Given the description of an element on the screen output the (x, y) to click on. 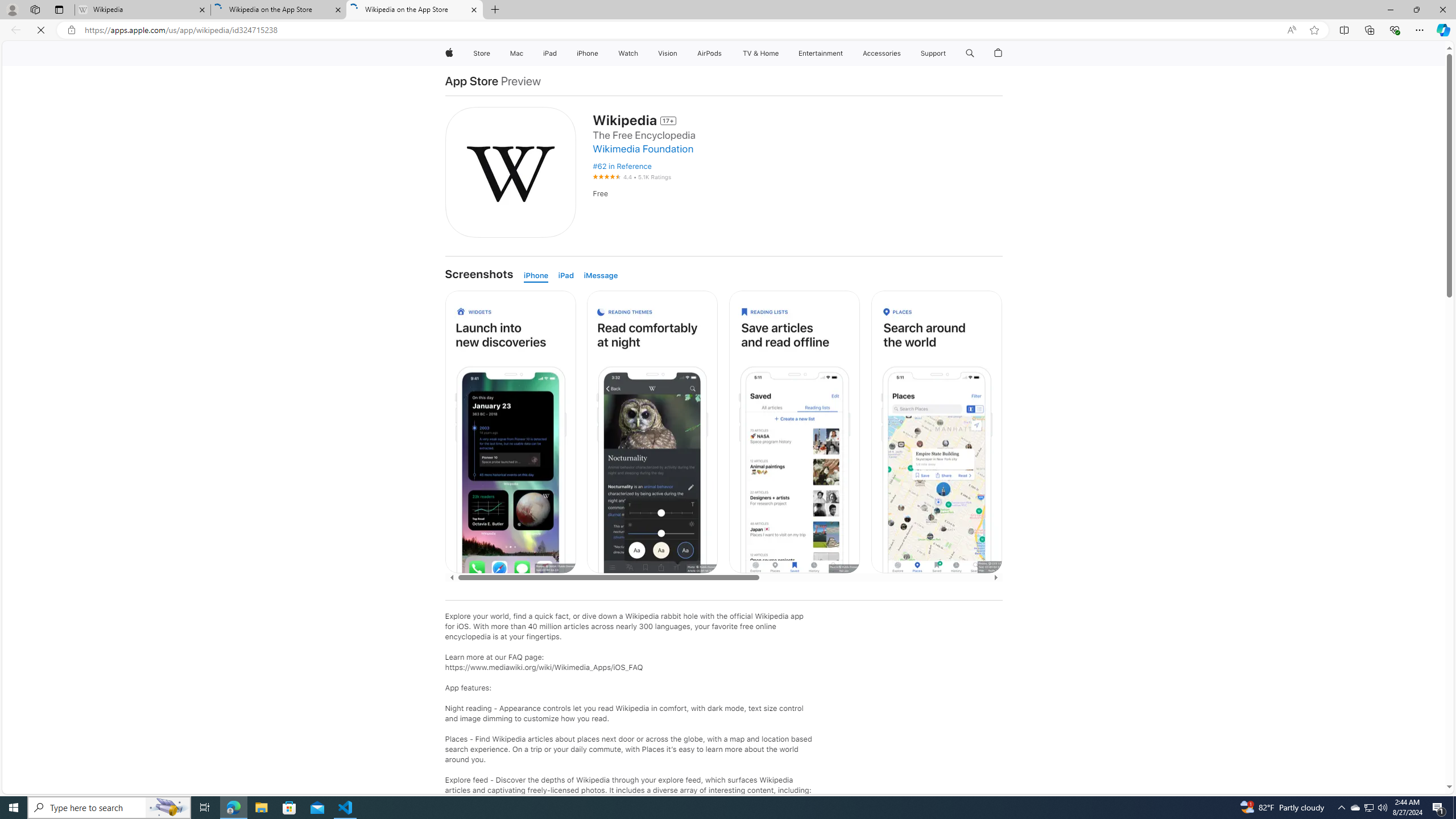
Vision (667, 53)
Search apple.com (969, 53)
AutomationID: globalnav-bag (998, 53)
Class: globalnav-item globalnav-search (969, 53)
#62 in Reference (620, 166)
Free (797, 194)
Apple (448, 53)
Apple (448, 53)
Mac (516, 53)
